Given the description of an element on the screen output the (x, y) to click on. 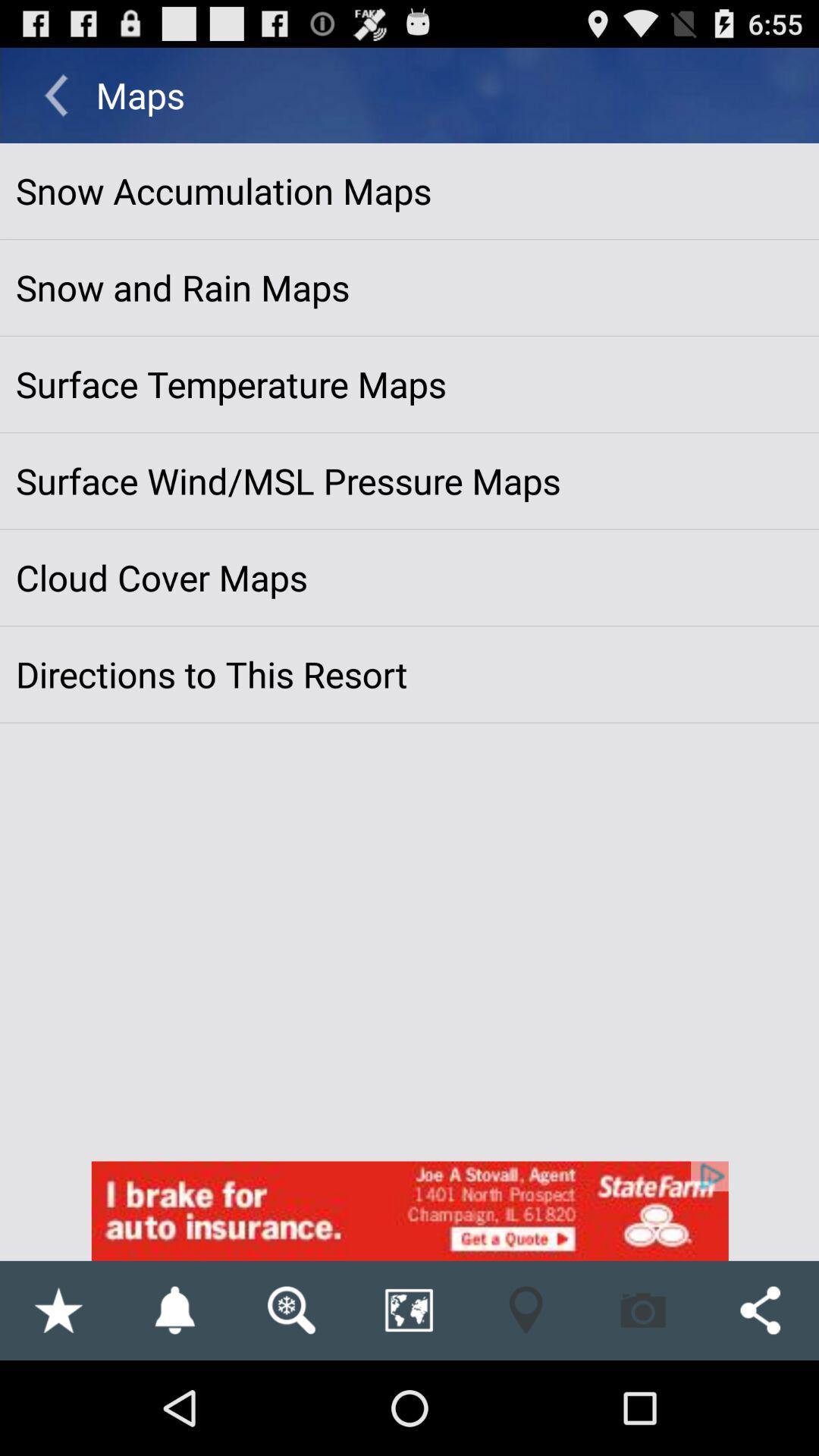
camera (642, 1310)
